Given the description of an element on the screen output the (x, y) to click on. 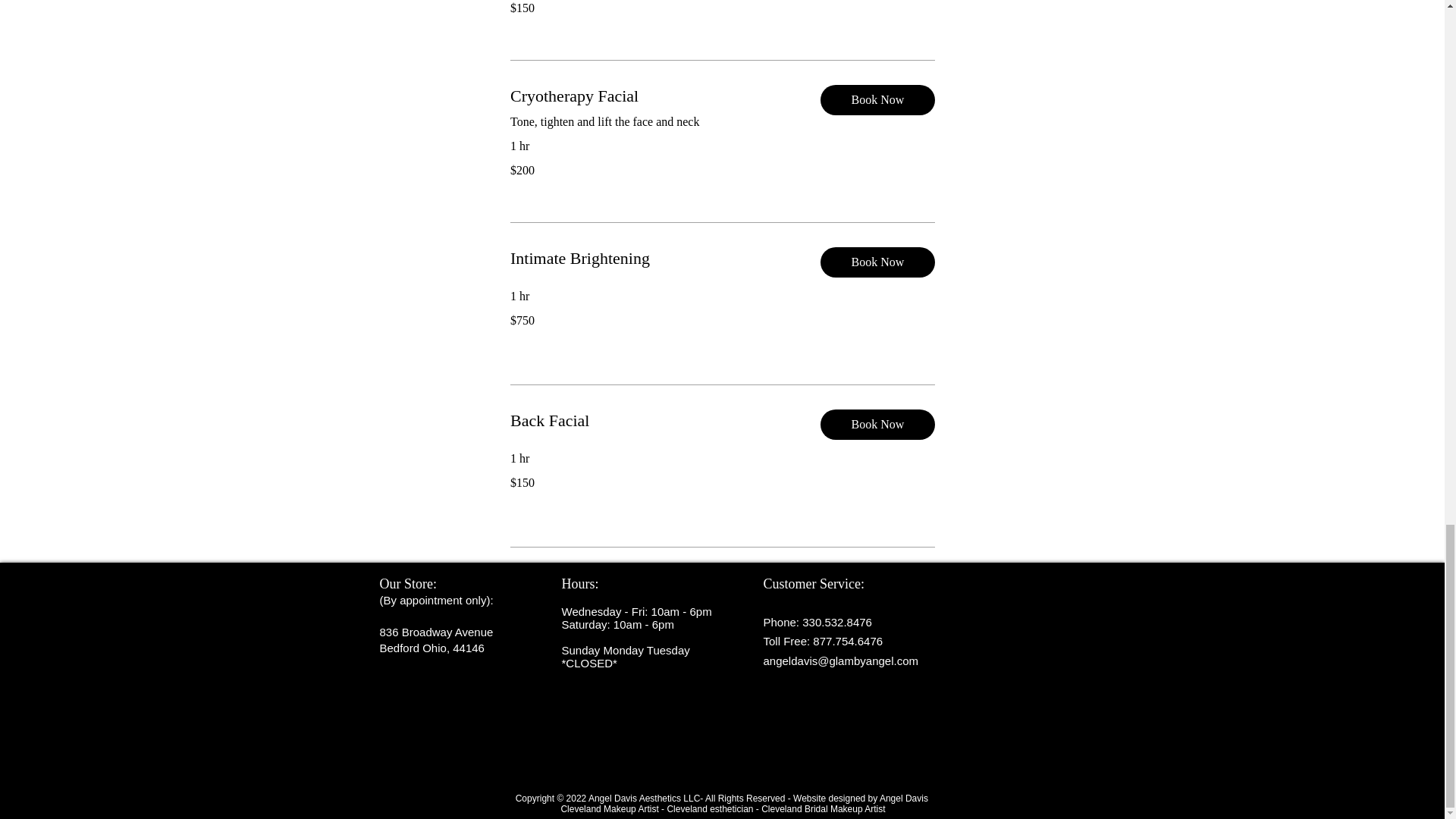
Cryotherapy Facial (651, 95)
Back Facial (651, 420)
Book Now (877, 261)
Intimate Brightening (651, 257)
Book Now (877, 424)
Book Now (877, 99)
